Given the description of an element on the screen output the (x, y) to click on. 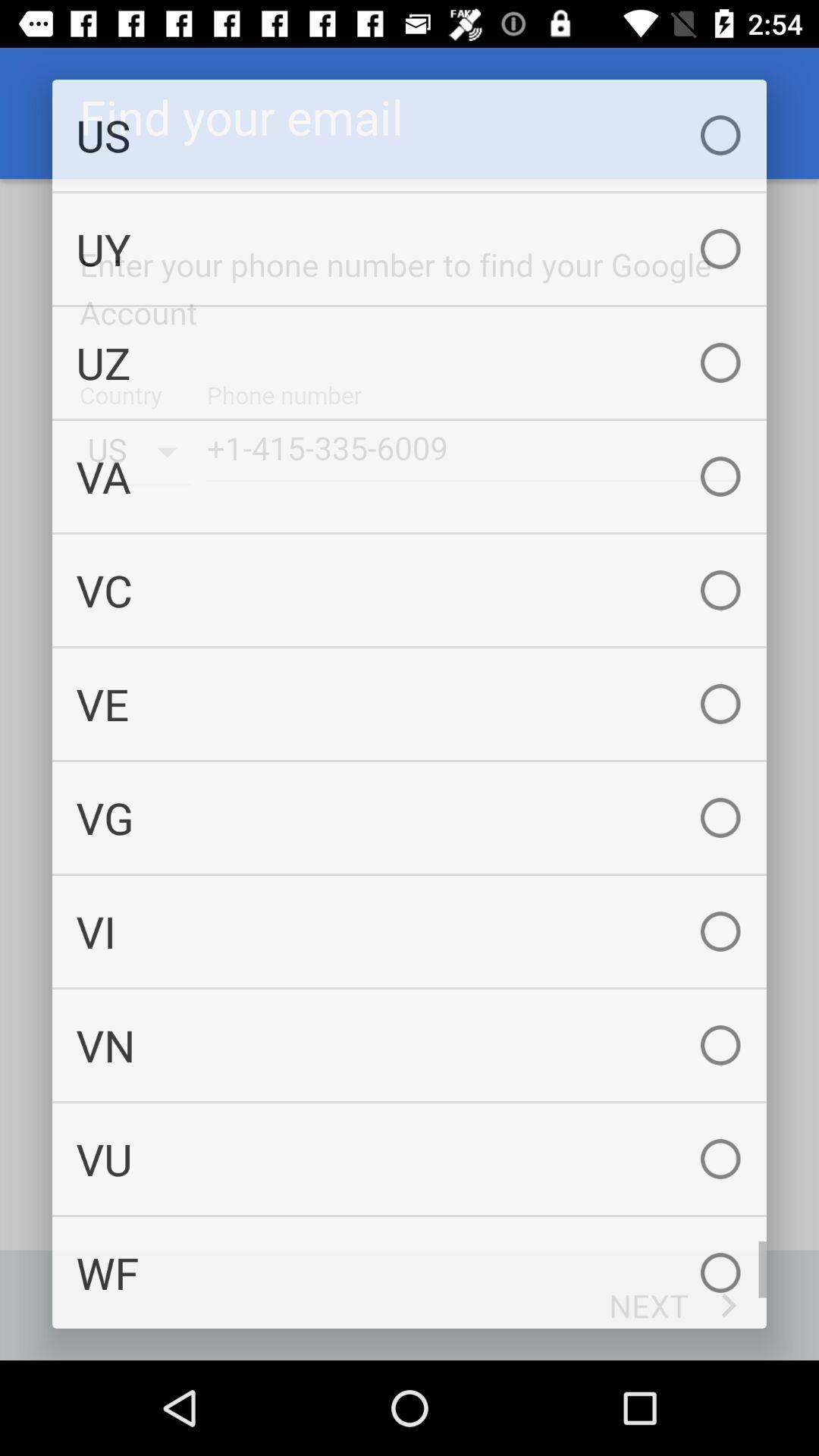
open uy (409, 248)
